Given the description of an element on the screen output the (x, y) to click on. 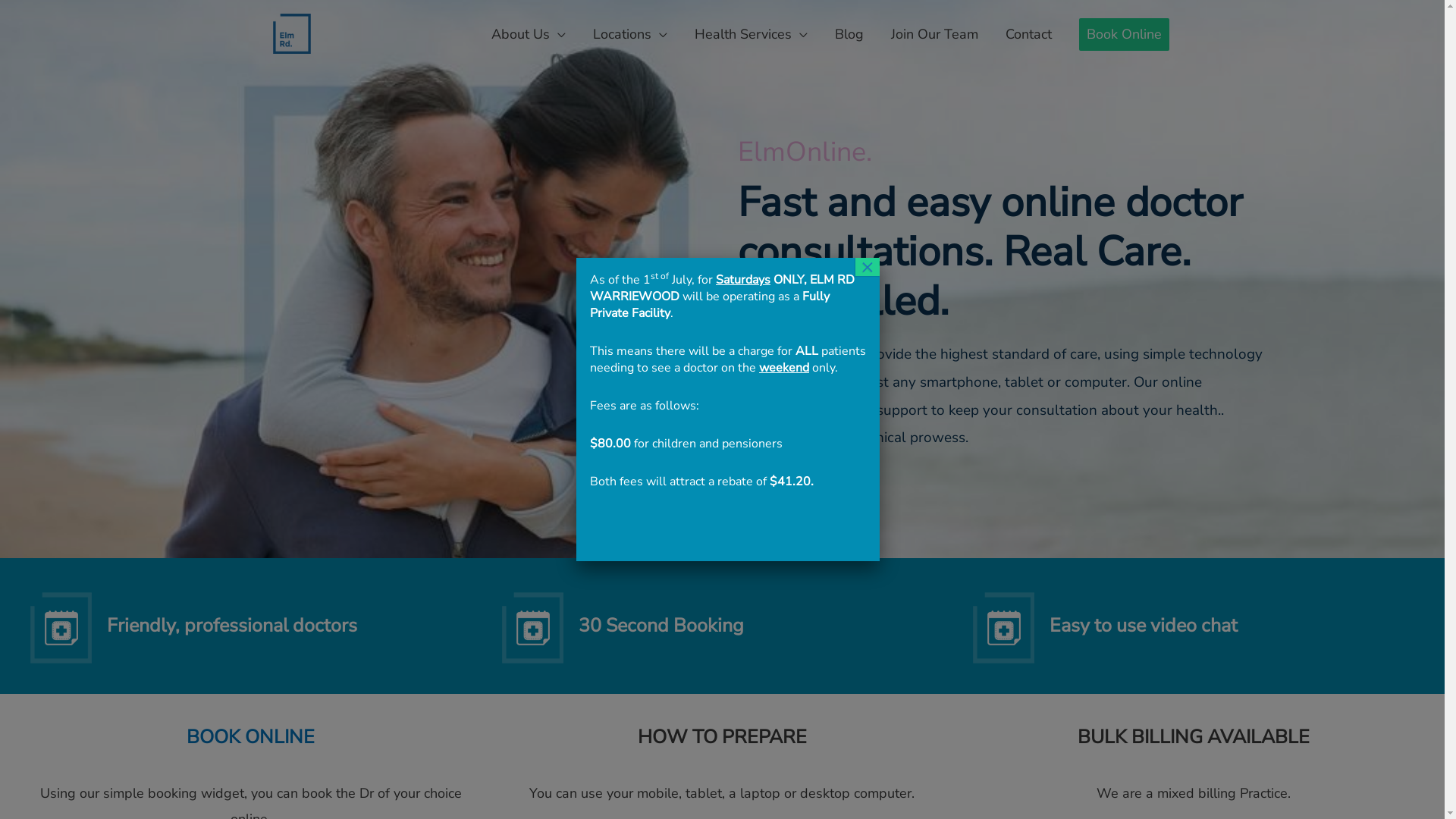
BOOK ONLINE Element type: text (250, 736)
Join Our Team Element type: text (934, 33)
Book Now Element type: text (795, 508)
Locations Element type: text (629, 33)
Blog Element type: text (849, 33)
About Us Element type: text (528, 33)
Health Services Element type: text (750, 33)
Book Online Element type: text (1124, 33)
Book Online Element type: text (1124, 34)
Contact Element type: text (1028, 33)
